Given the description of an element on the screen output the (x, y) to click on. 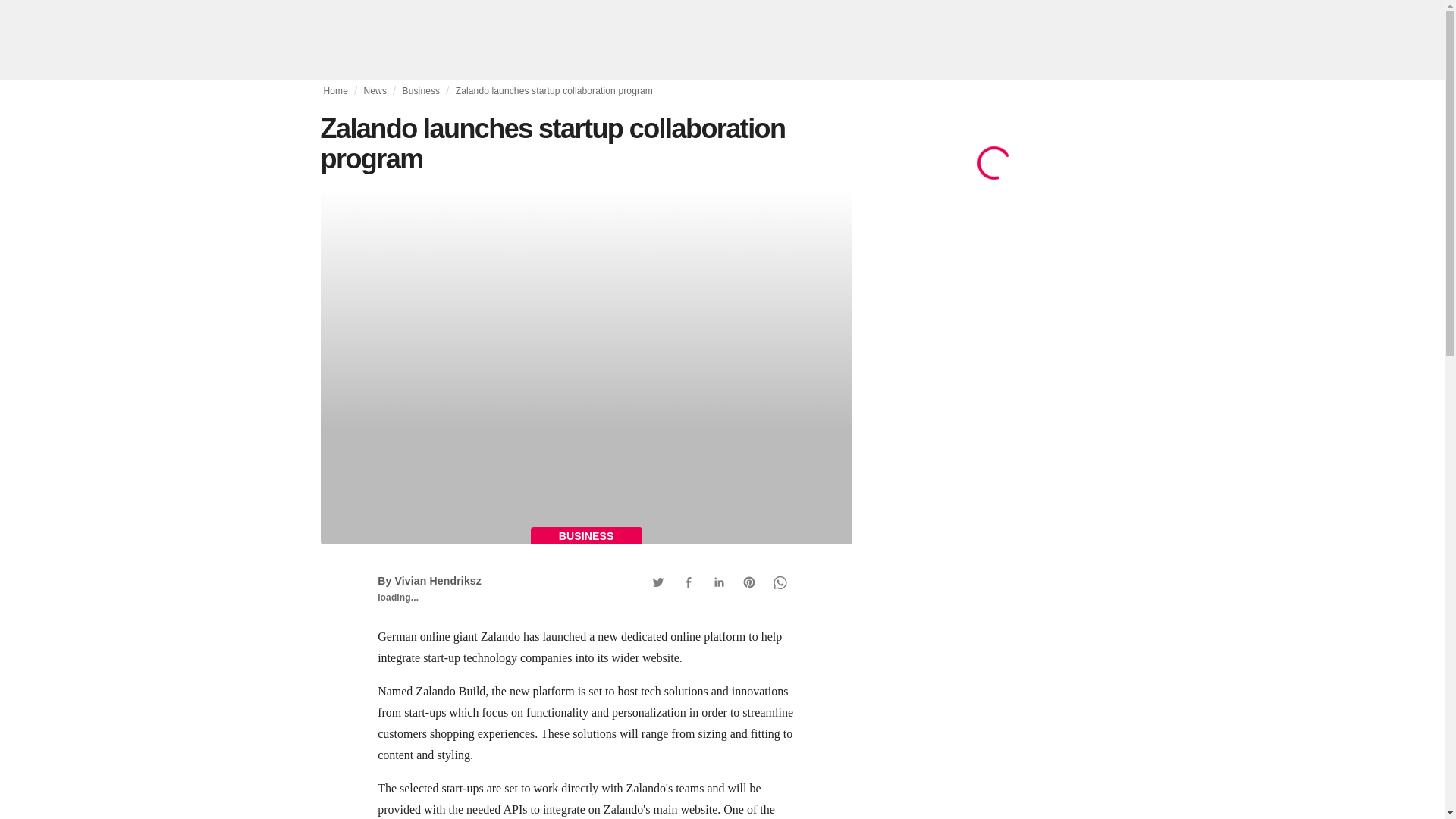
Home (335, 90)
By Vivian Hendriksz (429, 580)
Business (420, 90)
Zalando launches startup collaboration program (553, 90)
News (375, 90)
